Given the description of an element on the screen output the (x, y) to click on. 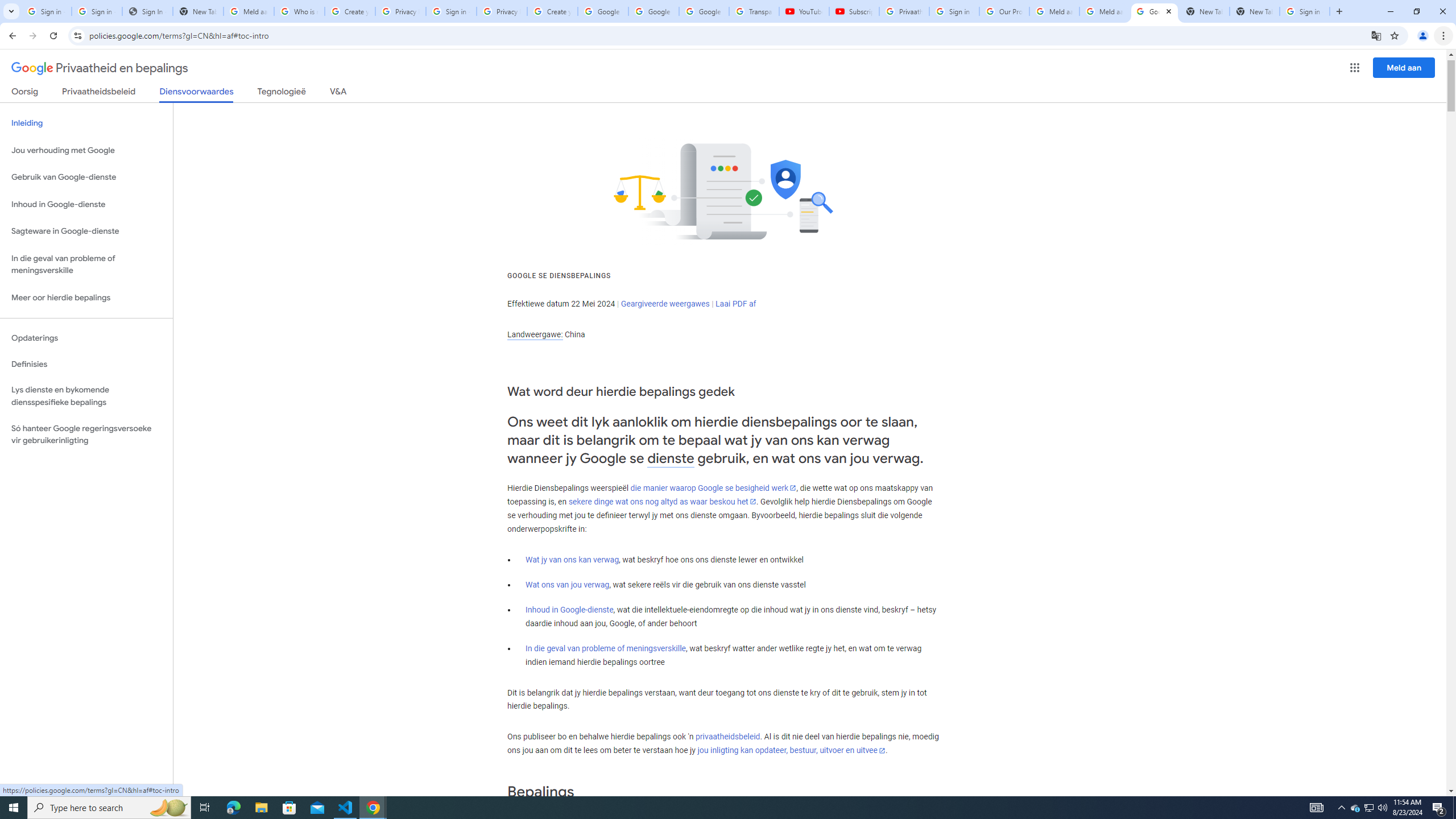
Definisies (86, 363)
sekere dinge wat ons nog altyd as waar beskou het (662, 501)
Wat jy van ons kan verwag (571, 559)
Lys dienste en bykomende diensspesifieke bepalings (86, 396)
privaatheidsbeleid (727, 737)
V&A (337, 93)
Privaatheidsbeleid (98, 93)
